Given the description of an element on the screen output the (x, y) to click on. 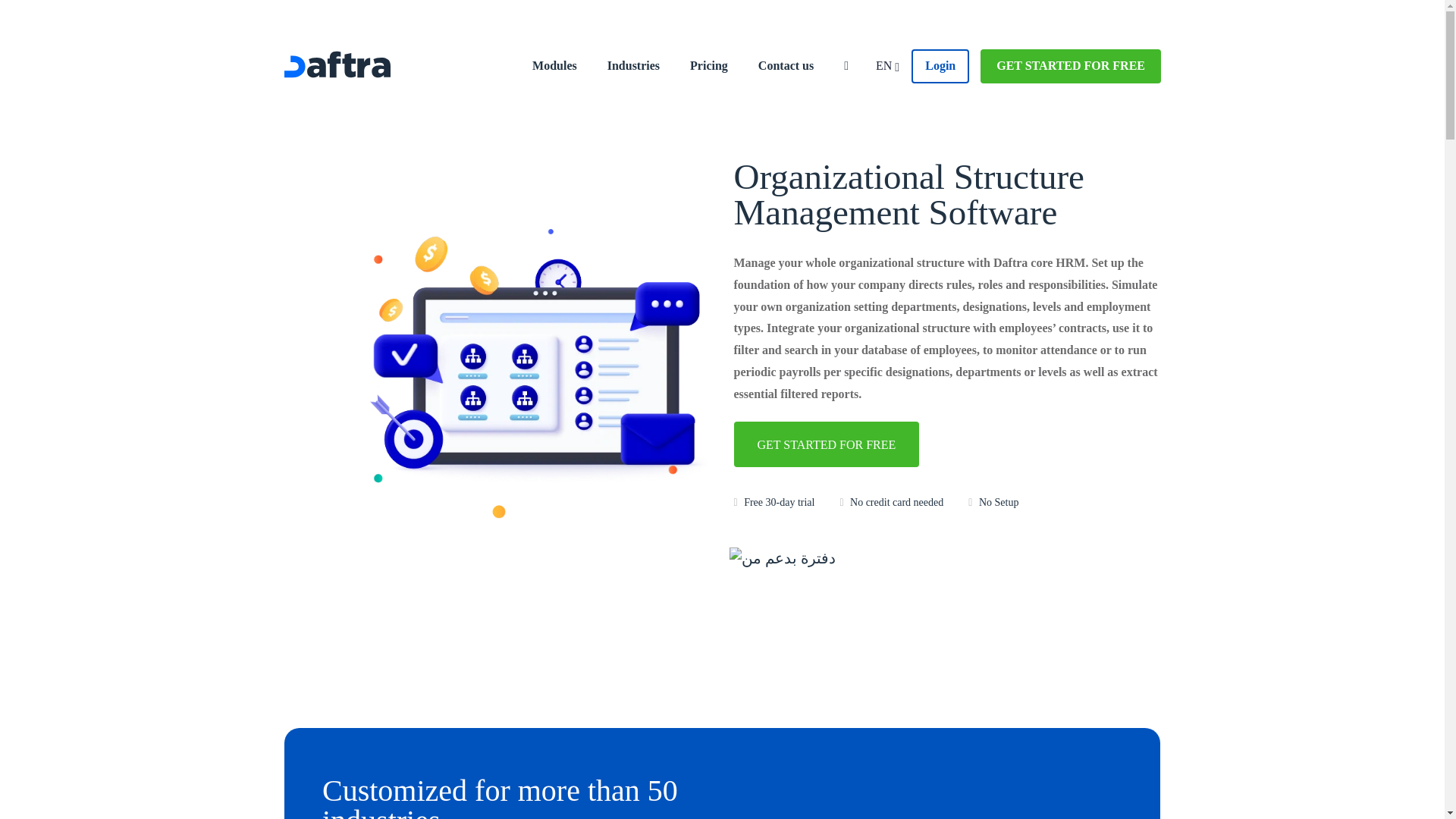
GET STARTED FOR FREE (1069, 65)
EN (887, 65)
Modules (554, 65)
Contact us (785, 65)
Pricing (708, 65)
Industries (633, 65)
Login (940, 65)
